Given the description of an element on the screen output the (x, y) to click on. 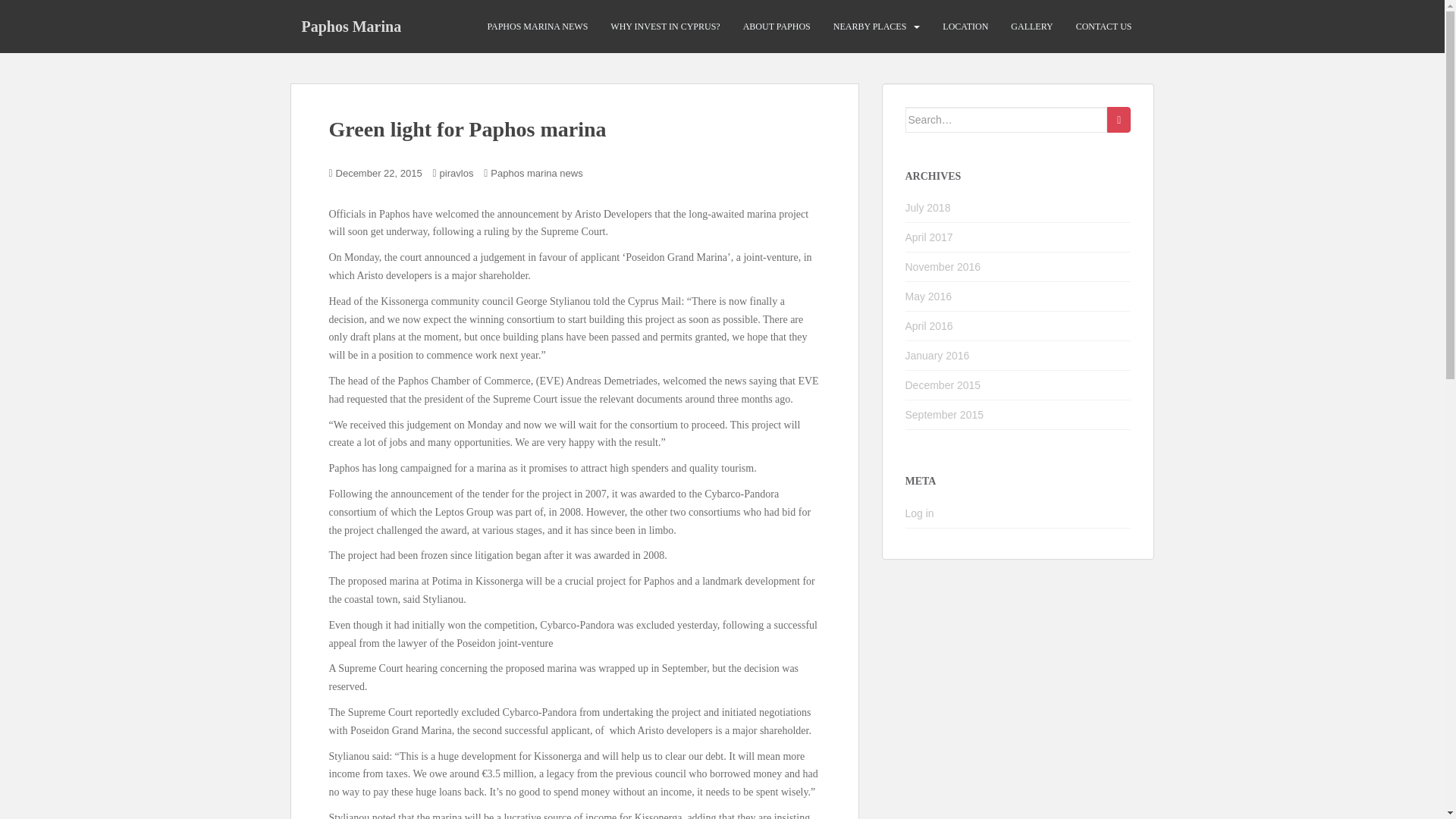
LOCATION (965, 26)
WHY INVEST IN CYPRUS? (664, 26)
Paphos Marina (350, 26)
GALLERY (1031, 26)
ABOUT PAPHOS (776, 26)
NEARBY PLACES (869, 26)
PAPHOS MARINA NEWS (537, 26)
Paphos Marina (350, 26)
December 22, 2015 (379, 173)
CONTACT US (1103, 26)
